Given the description of an element on the screen output the (x, y) to click on. 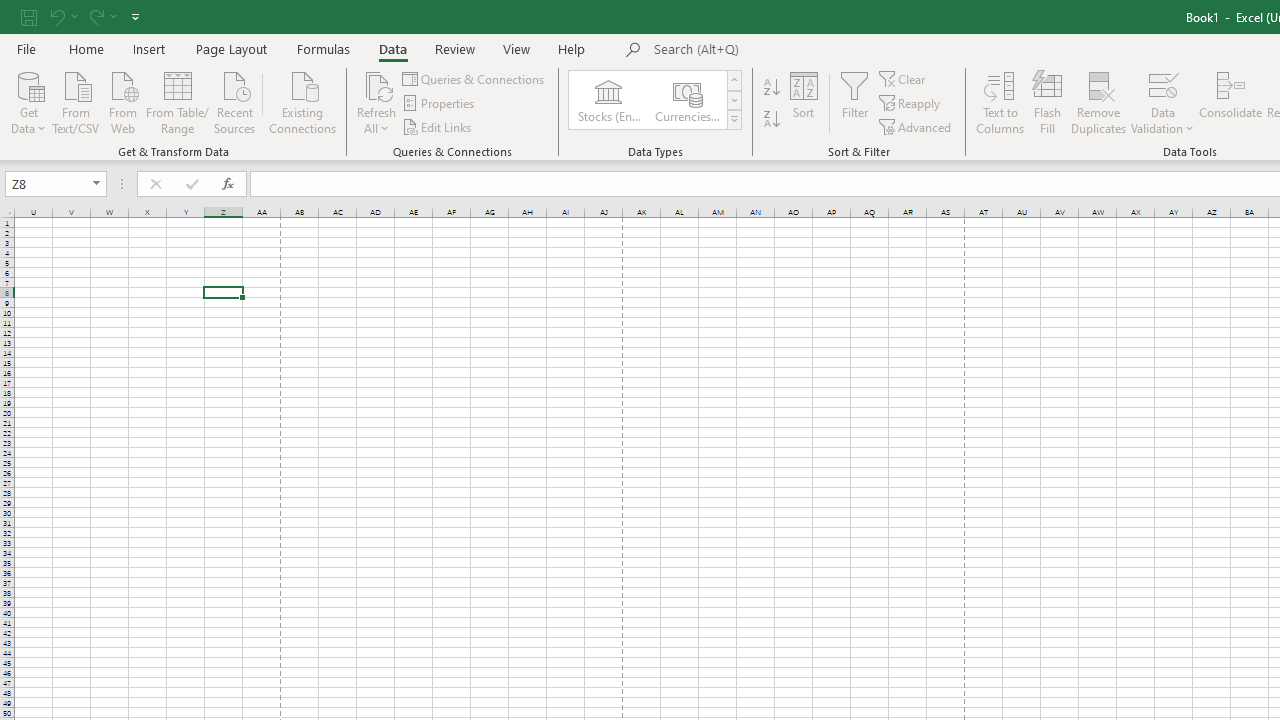
Reapply (911, 103)
Advanced... (916, 126)
Quick Access Toolbar (82, 16)
Row Down (734, 100)
Stocks (English) (608, 100)
Data Validation... (1162, 102)
File Tab (26, 48)
Sort A to Z (772, 87)
Properties (440, 103)
AutomationID: ConvertToLinkedEntity (655, 99)
From Text/CSV (75, 101)
Class: NetUIImage (734, 119)
